Given the description of an element on the screen output the (x, y) to click on. 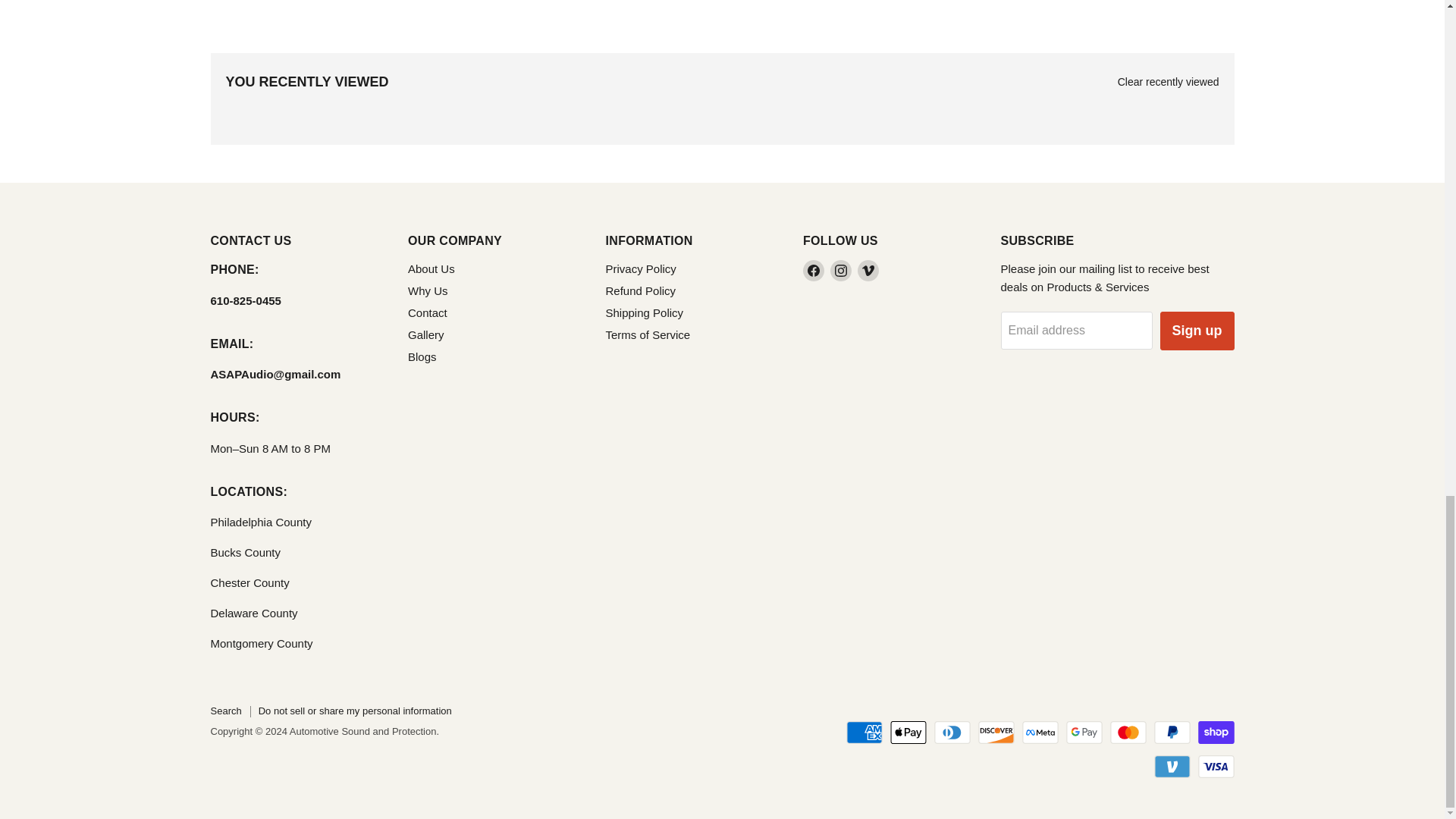
Facebook (813, 270)
Instagram (840, 270)
Vimeo (868, 270)
